Given the description of an element on the screen output the (x, y) to click on. 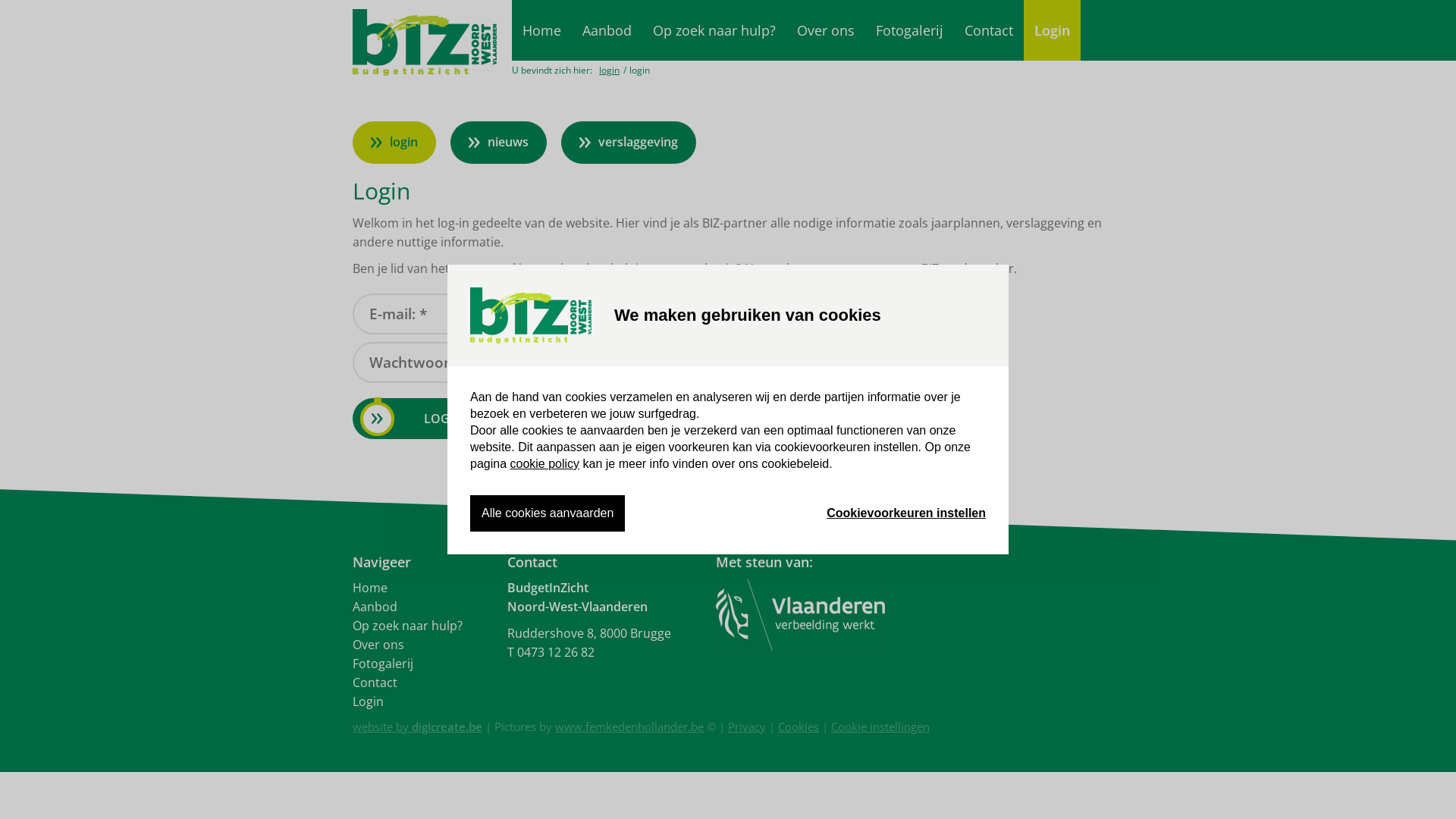
Home Element type: text (369, 587)
nieuws Element type: text (498, 142)
Cookie instellingen Element type: text (880, 726)
Fotogalerij Element type: text (382, 663)
Aanbod Element type: text (606, 30)
Alle cookies aanvaarden Element type: text (547, 513)
Login Element type: text (367, 701)
Cookies Element type: text (798, 726)
Privacy Element type: text (746, 726)
Fotogalerij Element type: text (909, 30)
cookie policy Element type: text (544, 463)
Over ons Element type: text (825, 30)
Login Element type: text (443, 418)
Contact Element type: text (988, 30)
www.femkedenhollander.be Element type: text (629, 726)
Over ons Element type: text (378, 644)
Home Element type: text (541, 30)
Cookievoorkeuren instellen Element type: text (905, 513)
Aanbod Element type: text (374, 606)
verslaggeving Element type: text (628, 142)
website by digicreate.be Element type: text (417, 726)
Contact Element type: text (374, 682)
Op zoek naar hulp? Element type: text (714, 30)
Op zoek naar hulp? Element type: text (407, 625)
contact Element type: text (828, 268)
login Element type: text (394, 142)
Login Element type: text (1051, 30)
login Element type: text (609, 69)
